Given the description of an element on the screen output the (x, y) to click on. 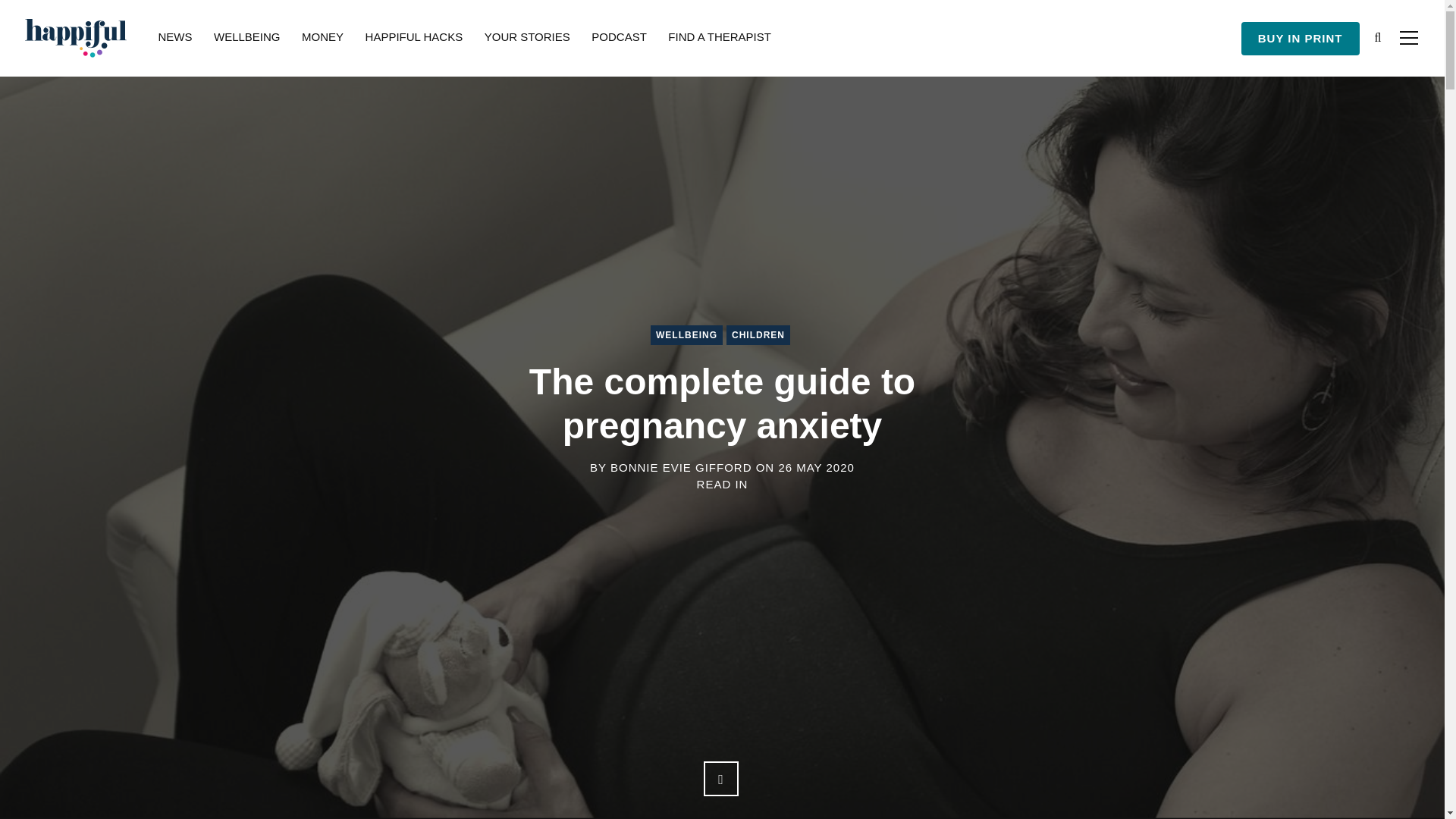
Scroll Down (720, 778)
WELLBEING (686, 334)
Scroll Down (720, 778)
MONEY (322, 38)
YOUR STORIES (527, 38)
WELLBEING (247, 38)
NEWS (174, 38)
HAPPIFUL HACKS (413, 38)
BUY IN PRINT (1300, 38)
OPEN SIDEBAR (1407, 37)
